Given the description of an element on the screen output the (x, y) to click on. 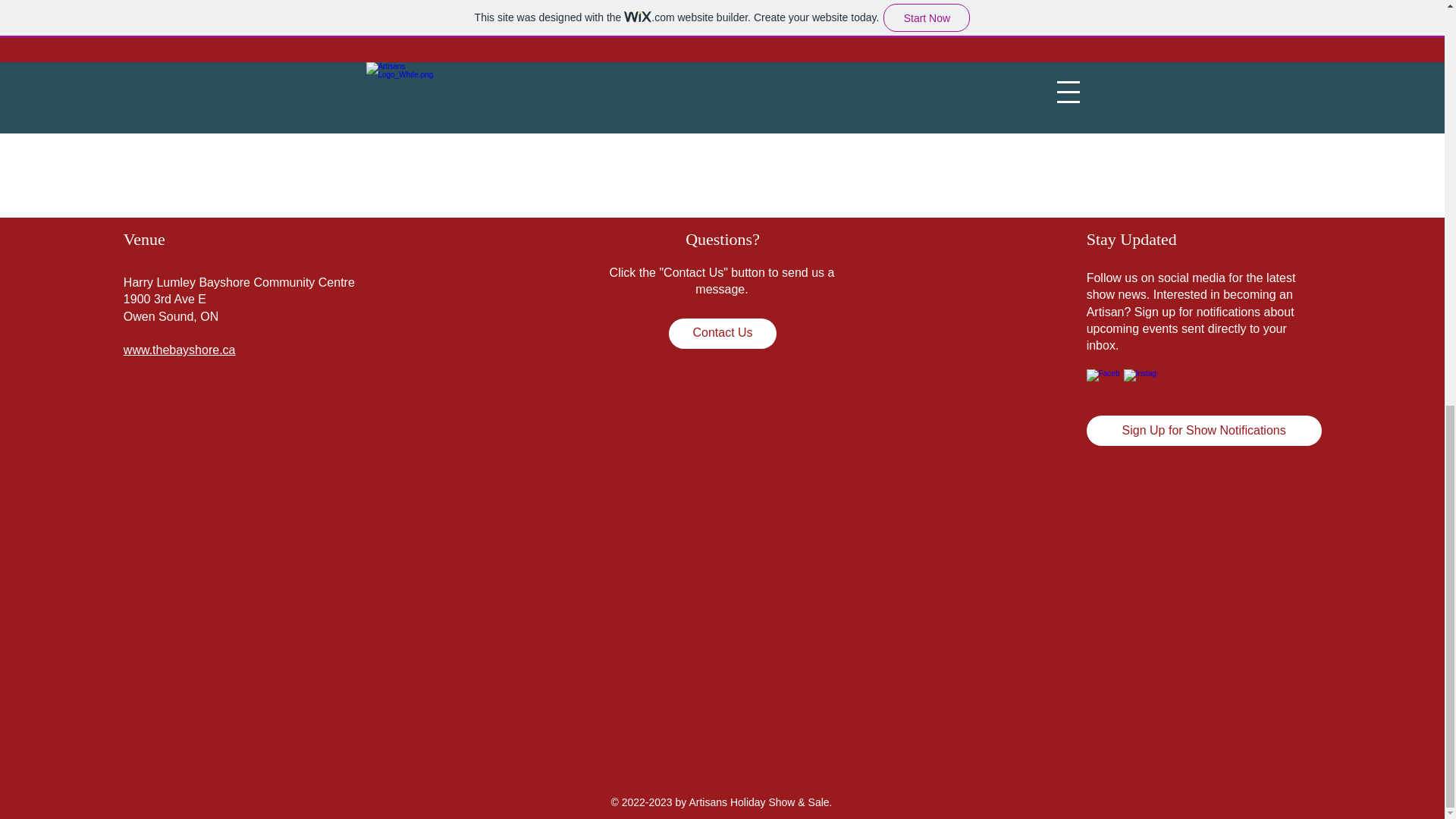
Contact Us (722, 333)
Sign Up for Show Notifications (1204, 430)
www.thebayshore.ca (179, 349)
